Given the description of an element on the screen output the (x, y) to click on. 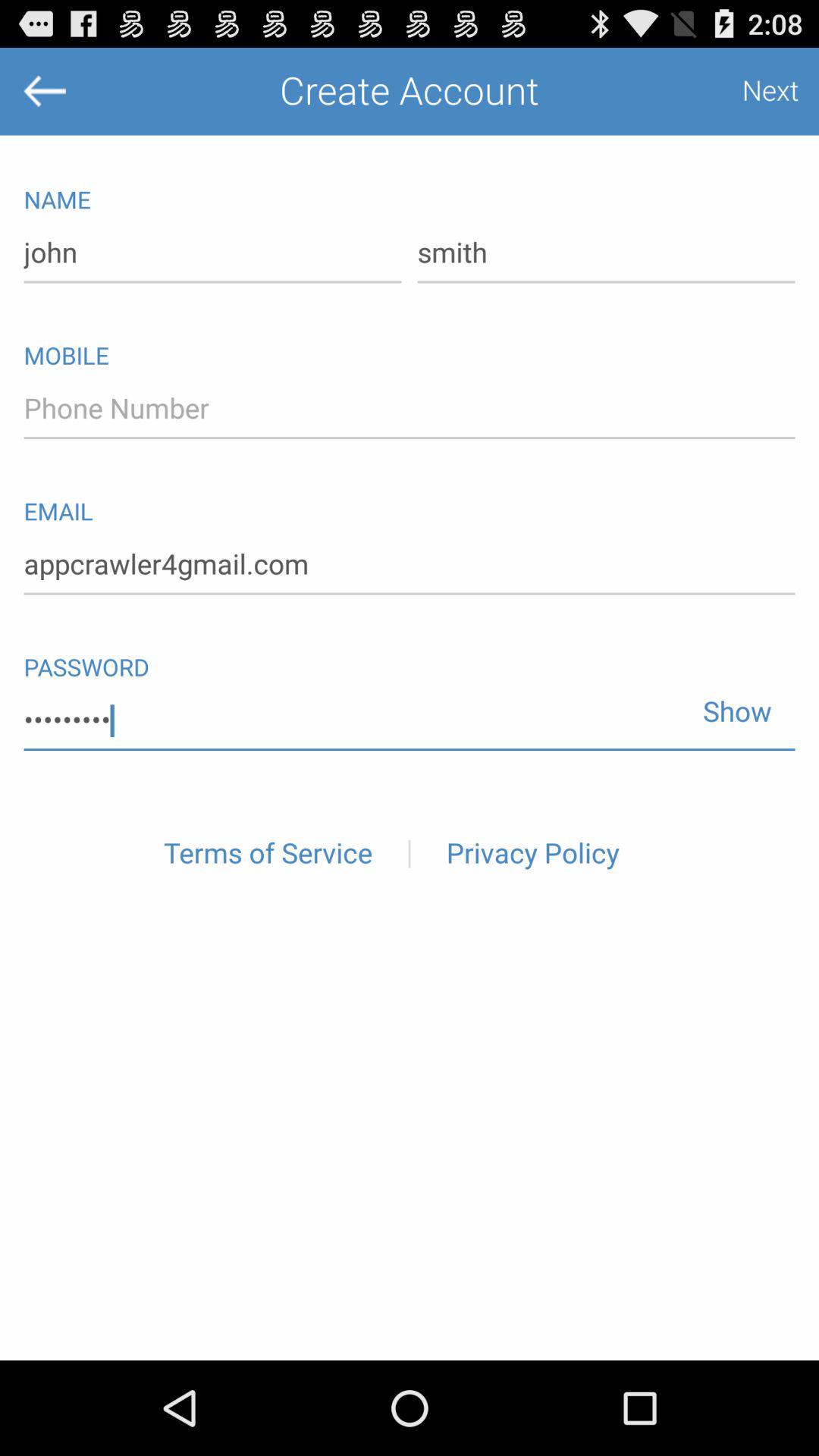
flip to john (212, 253)
